Given the description of an element on the screen output the (x, y) to click on. 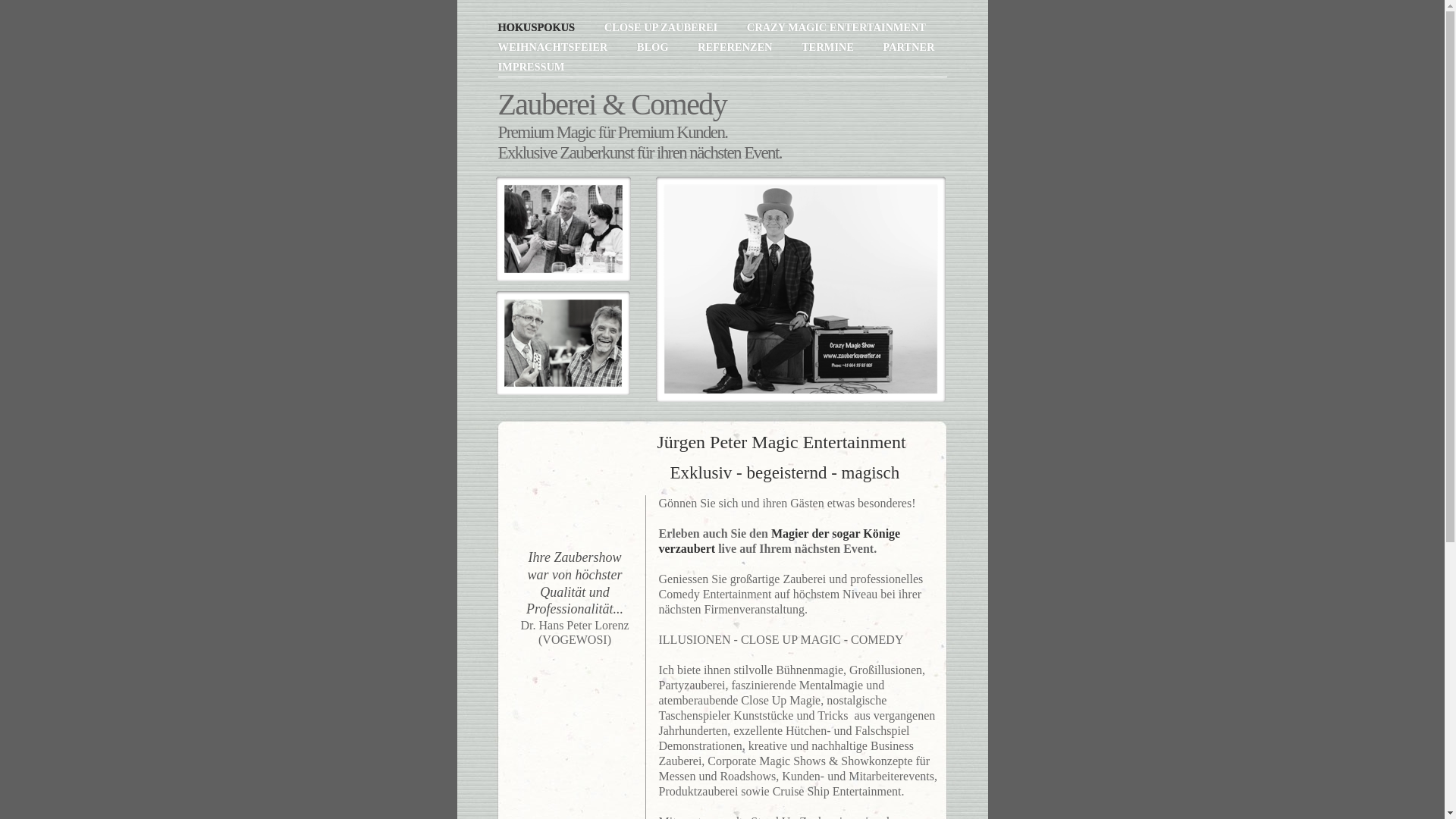
IMPRESSUM Element type: text (530, 66)
WEIHNACHTSFEIER Element type: text (553, 46)
HOKUSPOKUS Element type: text (537, 27)
CRAZY MAGIC ENTERTAINMENT Element type: text (835, 27)
REFERENZEN Element type: text (736, 46)
TERMINE Element type: text (828, 46)
CLOSE UP ZAUBEREI Element type: text (662, 27)
BLOG Element type: text (654, 46)
PARTNER Element type: text (908, 46)
